Given the description of an element on the screen output the (x, y) to click on. 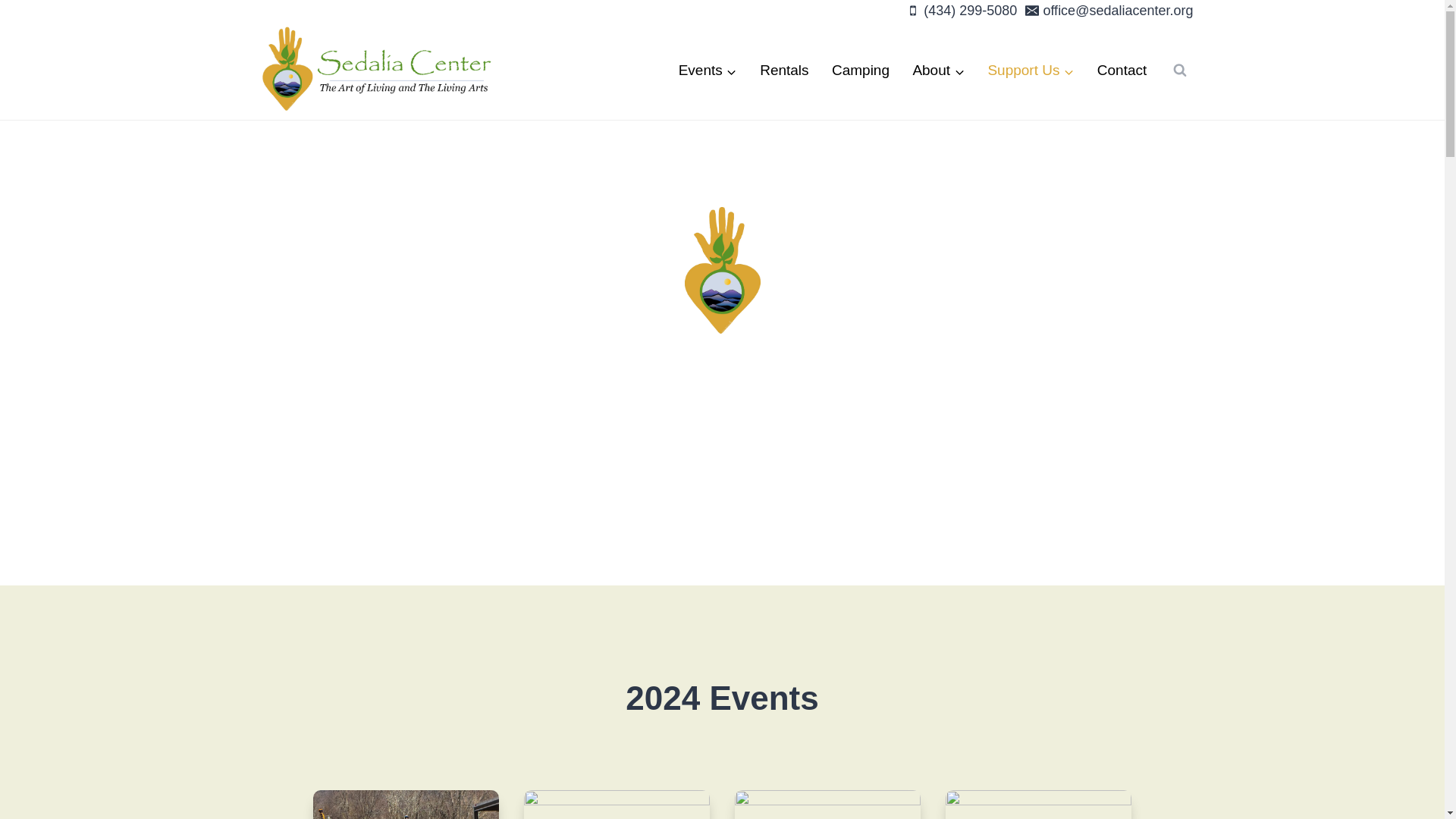
Support Us (1029, 69)
Camping (861, 69)
3 (828, 804)
3 (617, 804)
About (938, 69)
3 (1038, 804)
Events (707, 69)
3 (406, 804)
Contact (1122, 69)
Rentals (784, 69)
